Given the description of an element on the screen output the (x, y) to click on. 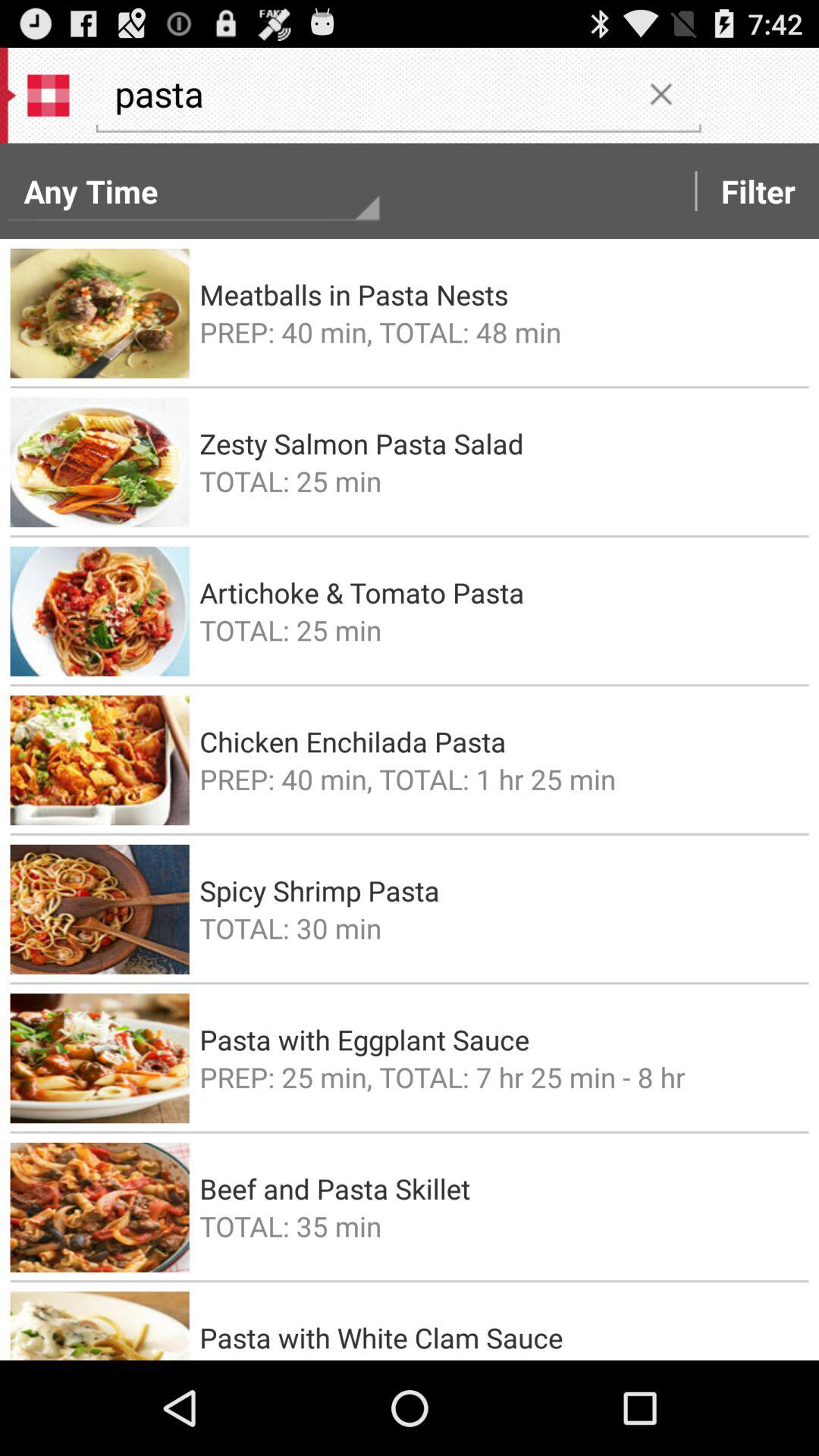
select the icon above the total: 25 min app (498, 443)
